Given the description of an element on the screen output the (x, y) to click on. 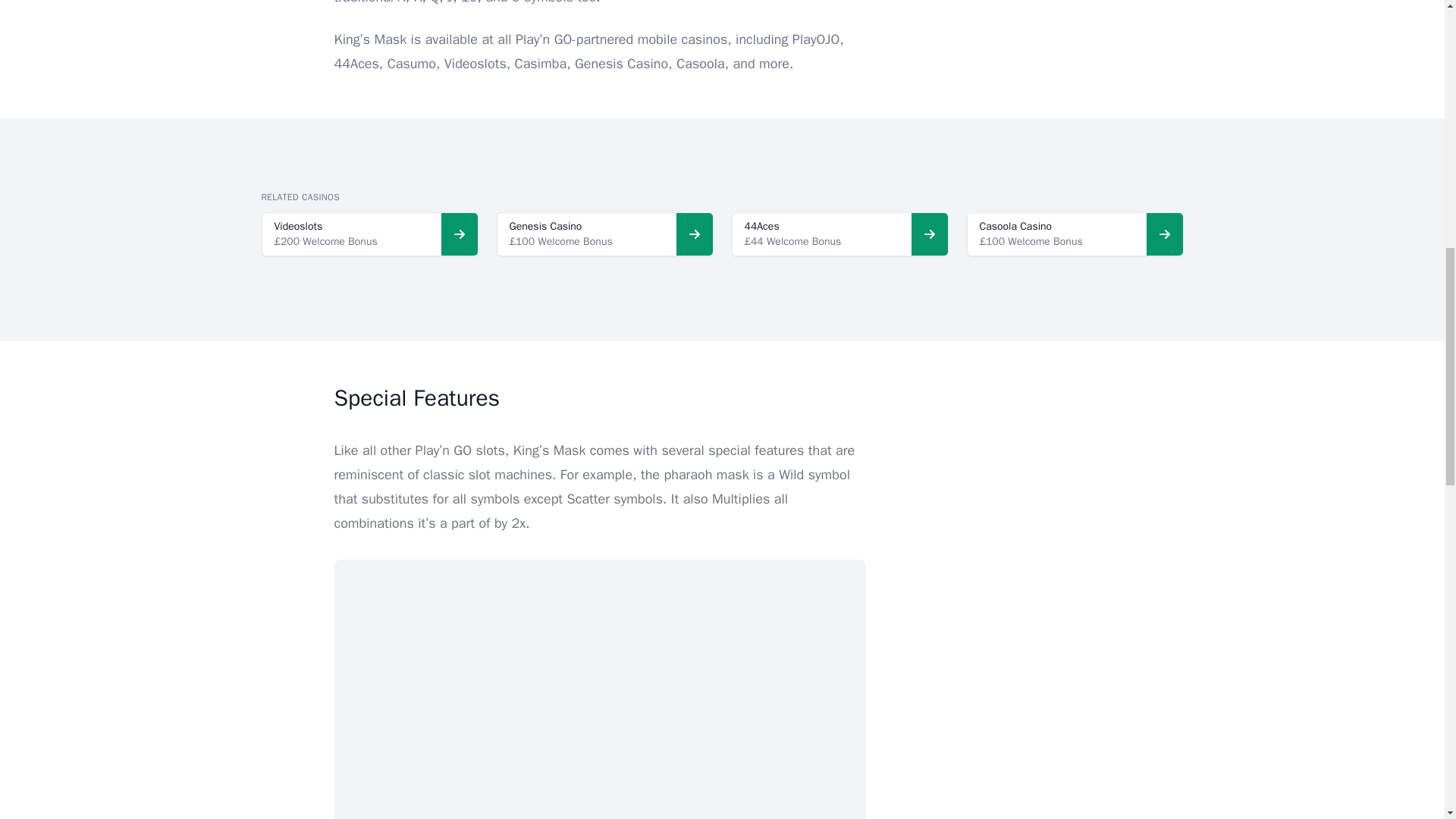
Casoola Casino (1015, 226)
44Aces (761, 226)
Genesis Casino (545, 226)
Videoslots (299, 226)
